Given the description of an element on the screen output the (x, y) to click on. 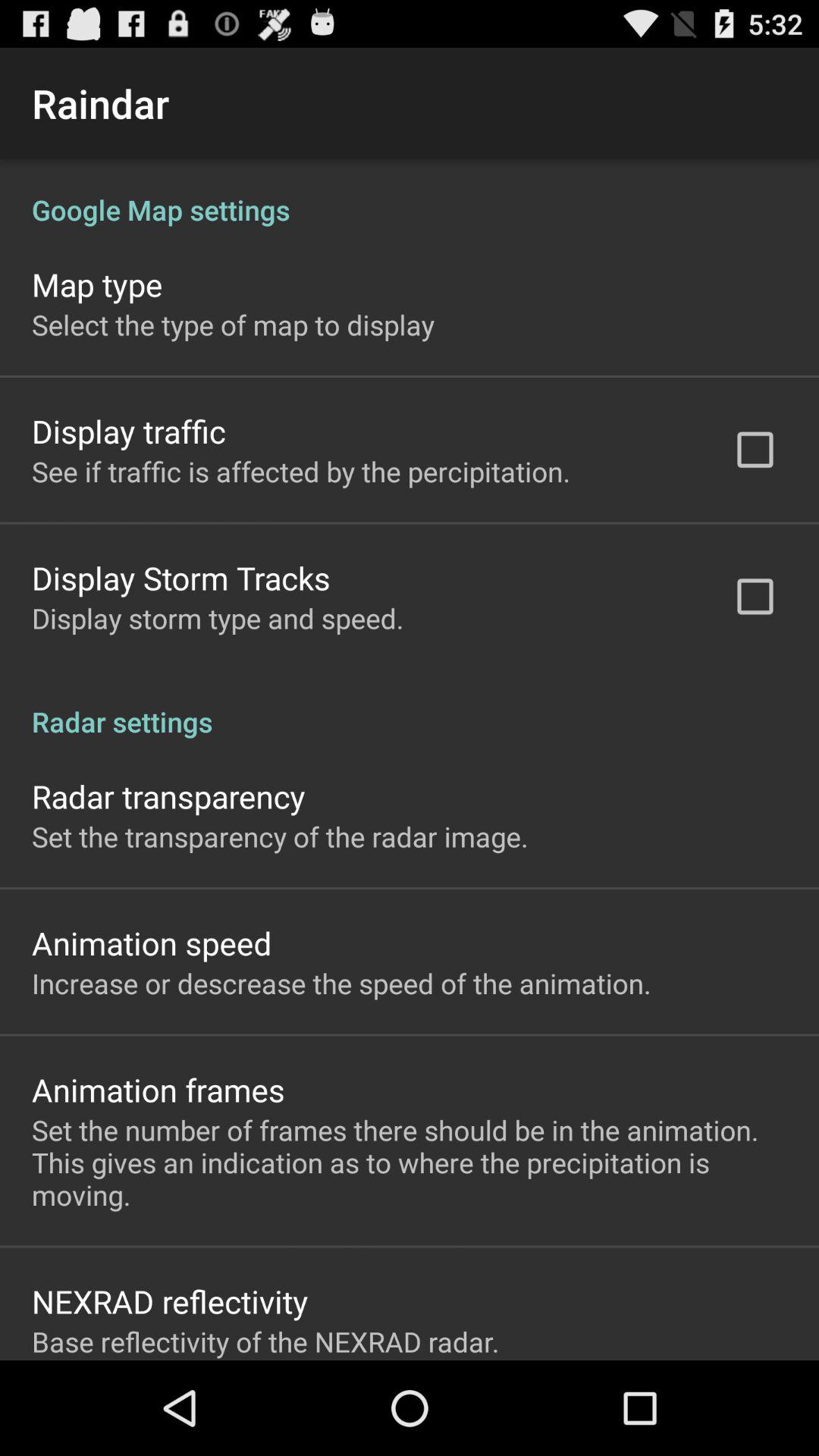
open the base reflectivity of (265, 1341)
